Given the description of an element on the screen output the (x, y) to click on. 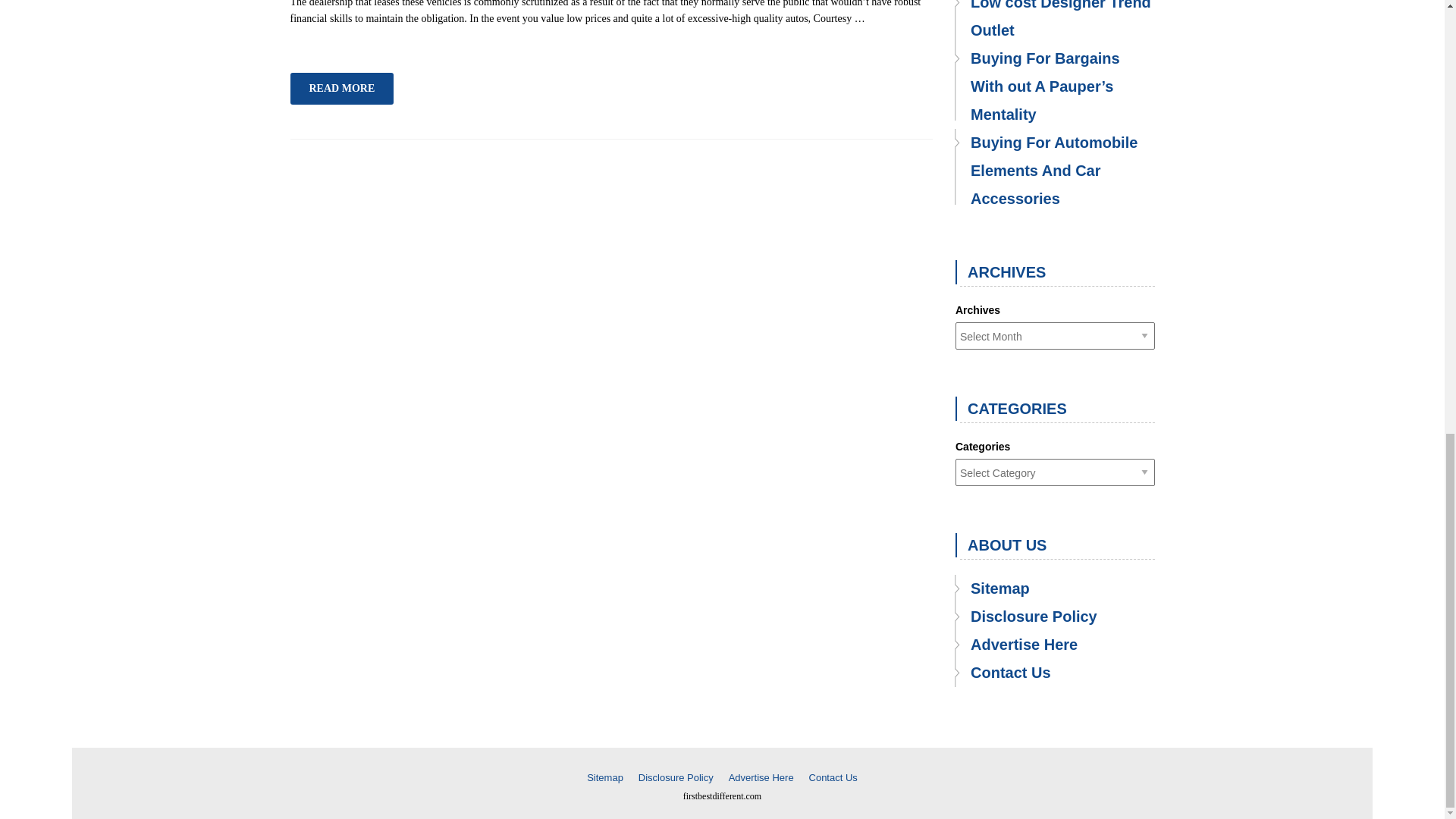
READ MORE (341, 88)
